Given the description of an element on the screen output the (x, y) to click on. 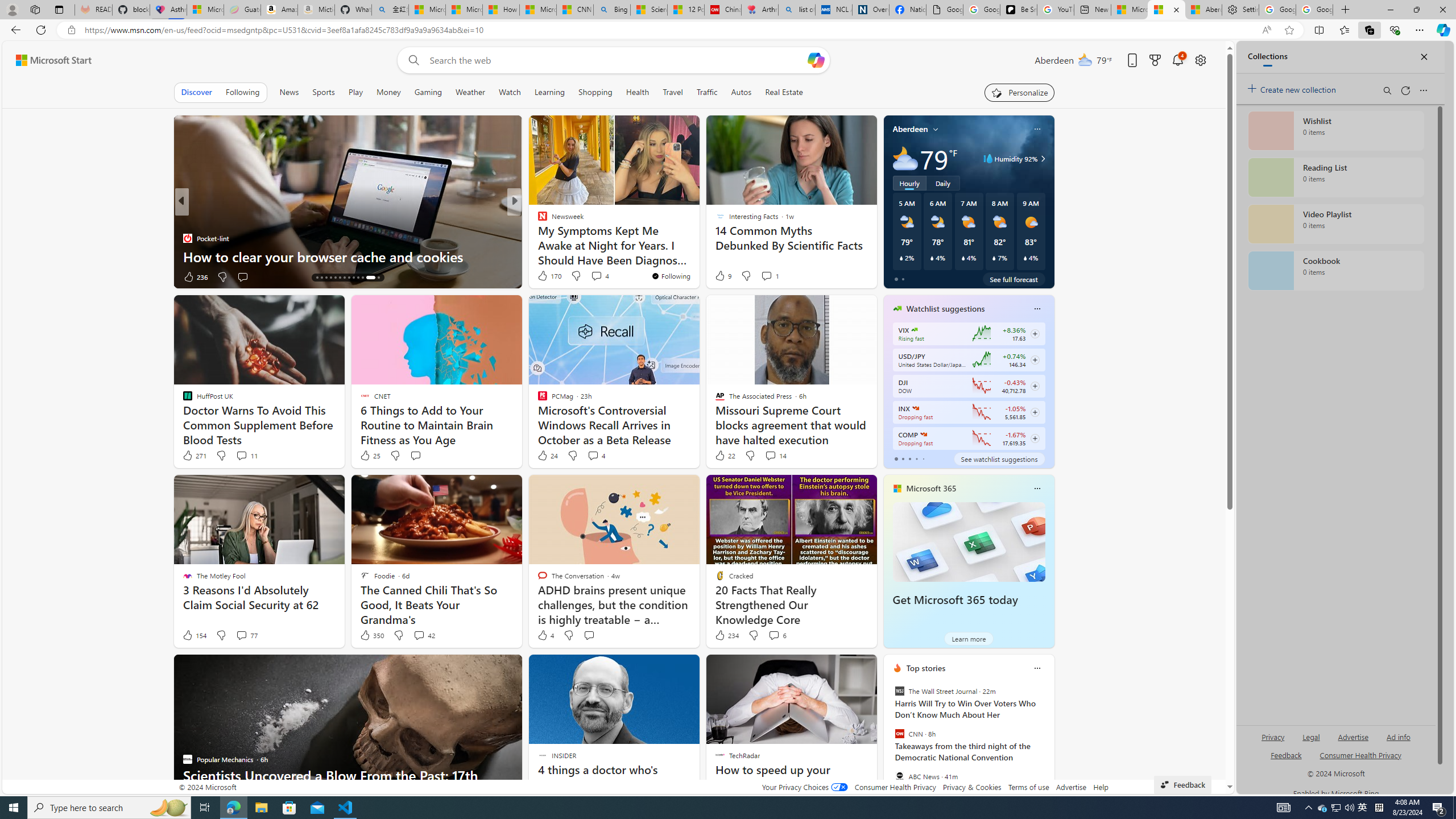
AutomationID: tab-18 (335, 277)
Class: weather-current-precipitation-glyph (1024, 257)
News (288, 92)
Get Microsoft 365 today (954, 600)
271 Like (193, 455)
Your Privacy Choices (804, 786)
Mostly cloudy (904, 158)
Enter your search term (617, 59)
Real Estate (783, 92)
